Given the description of an element on the screen output the (x, y) to click on. 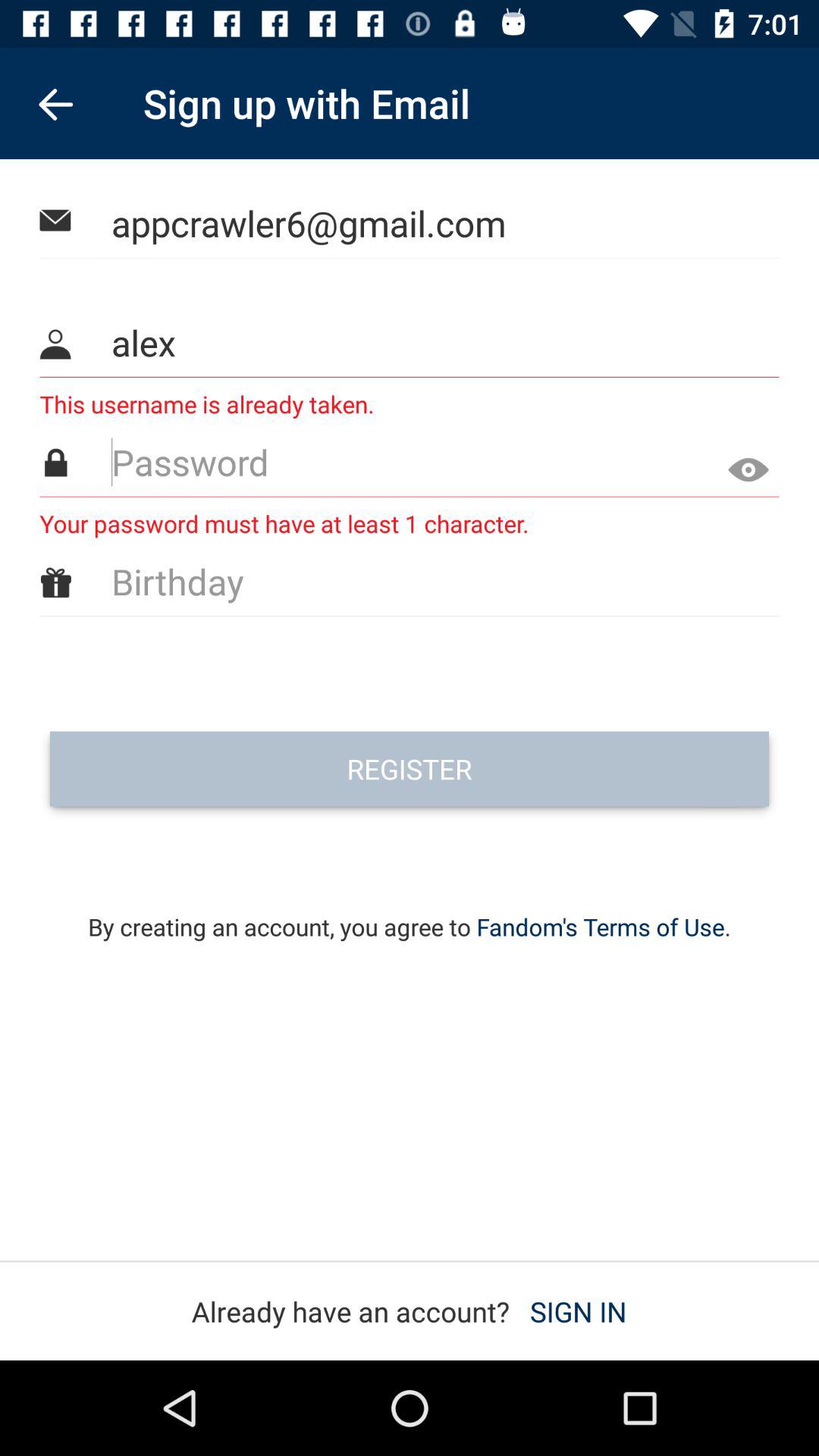
swipe to already have an item (408, 1311)
